Given the description of an element on the screen output the (x, y) to click on. 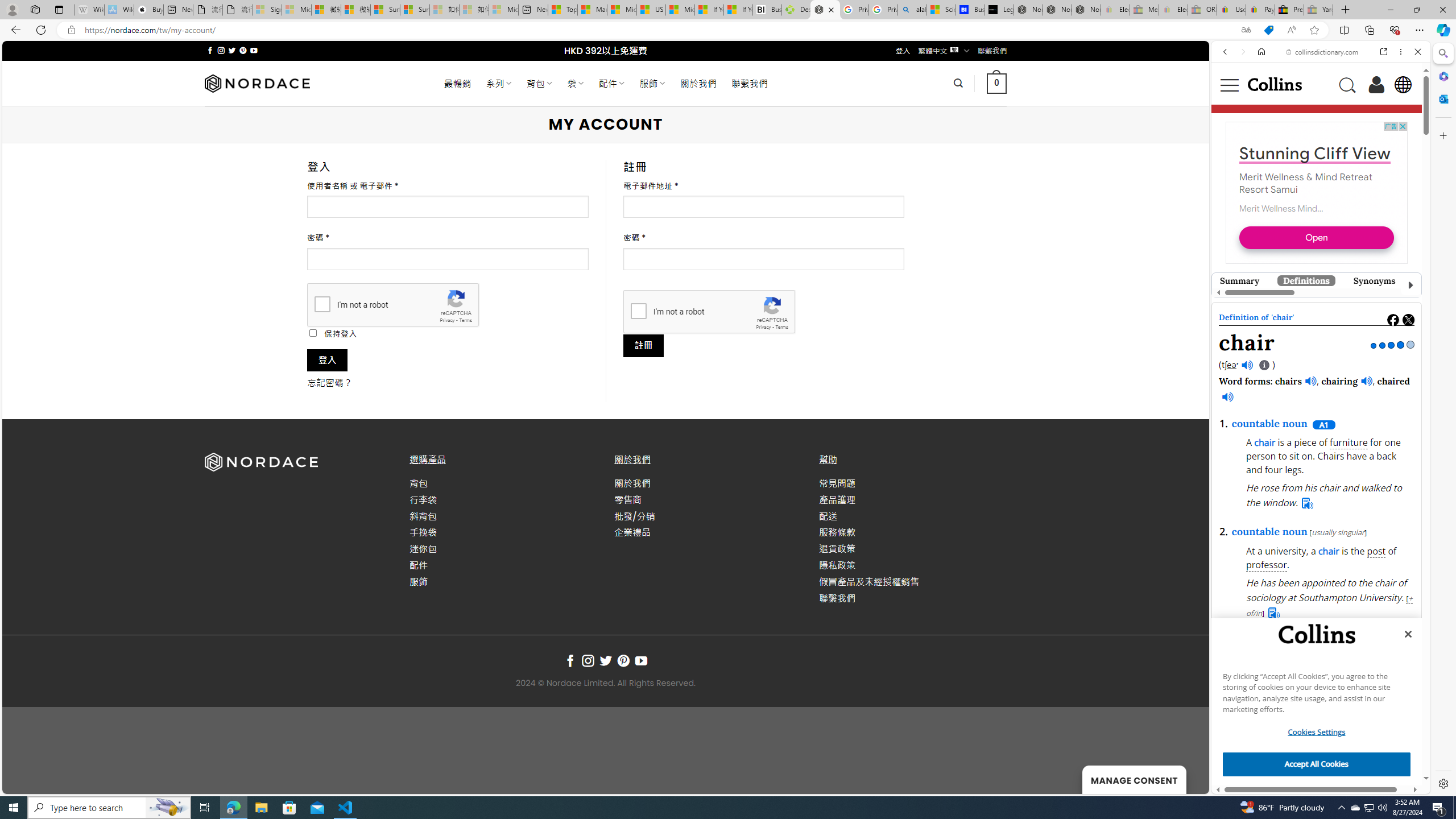
Share this page on Facebook (1393, 319)
Class: ns-14utm-e-3 image p9FadeIn (1312, 306)
